Given the description of an element on the screen output the (x, y) to click on. 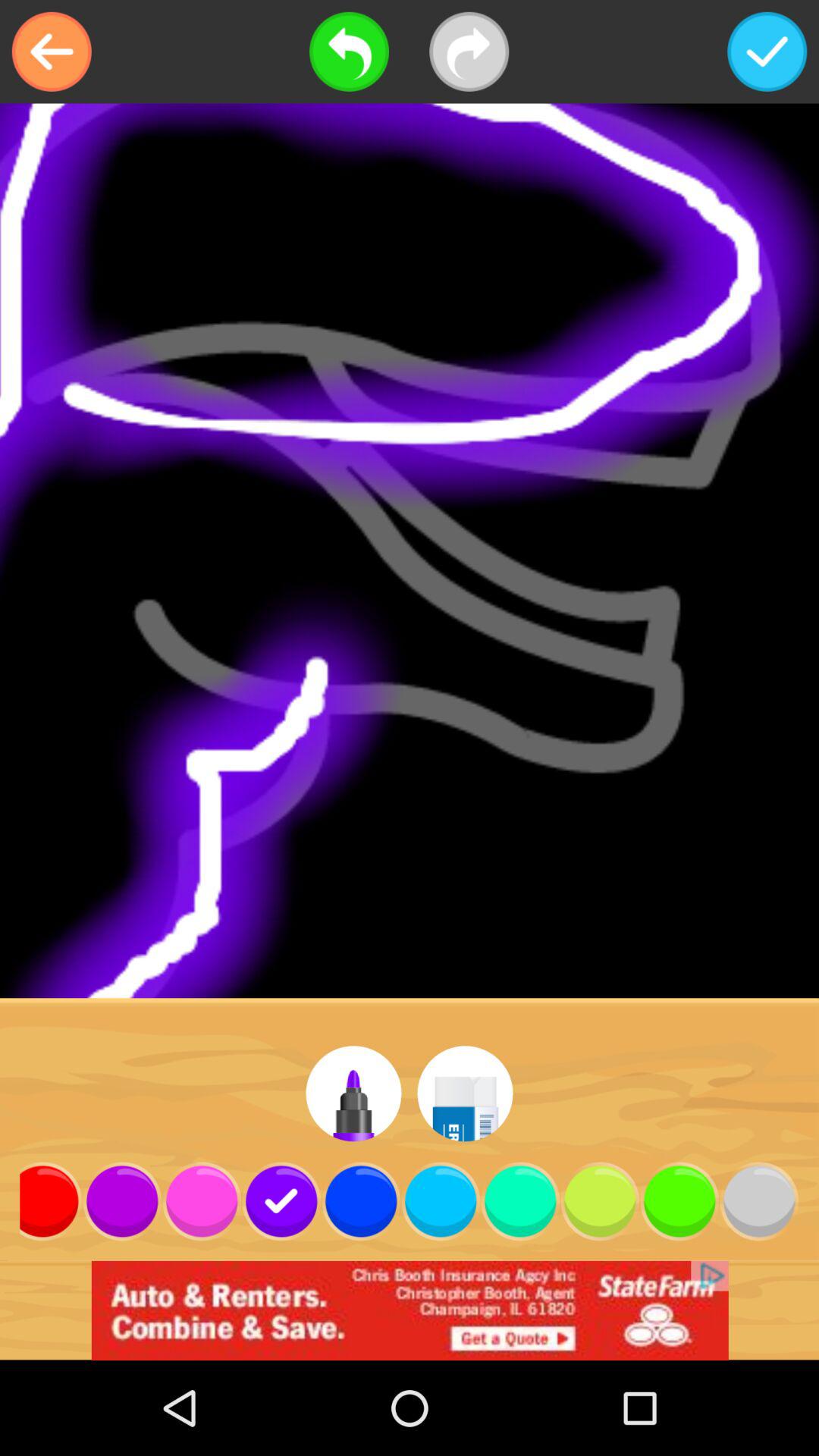
undo (349, 51)
